Given the description of an element on the screen output the (x, y) to click on. 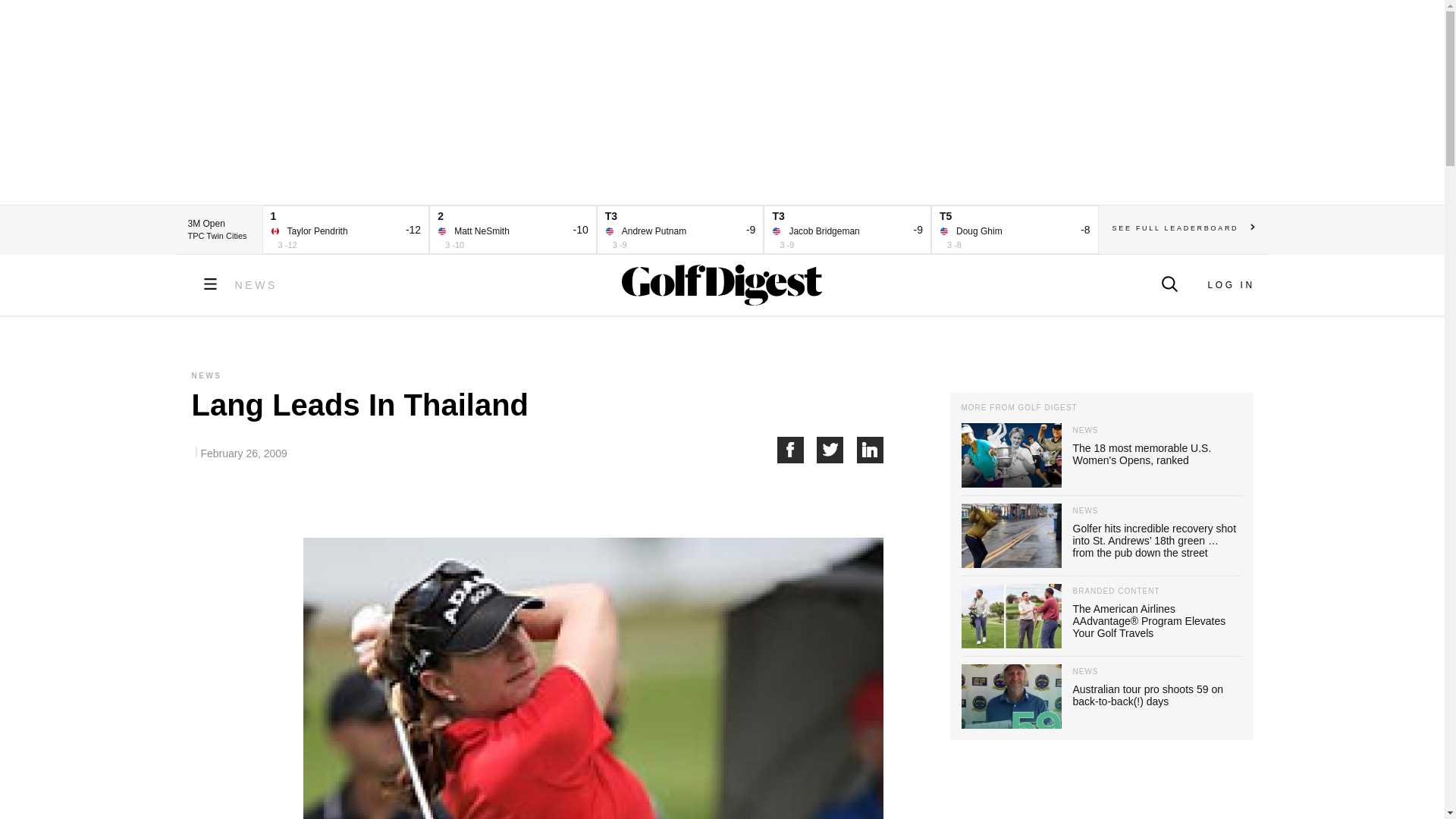
Share on Facebook (796, 449)
Share on LinkedIn (870, 449)
NEWS (256, 285)
SEE FULL LEADERBOARD (1183, 227)
LOG IN (1230, 285)
Share on Twitter (836, 449)
